Given the description of an element on the screen output the (x, y) to click on. 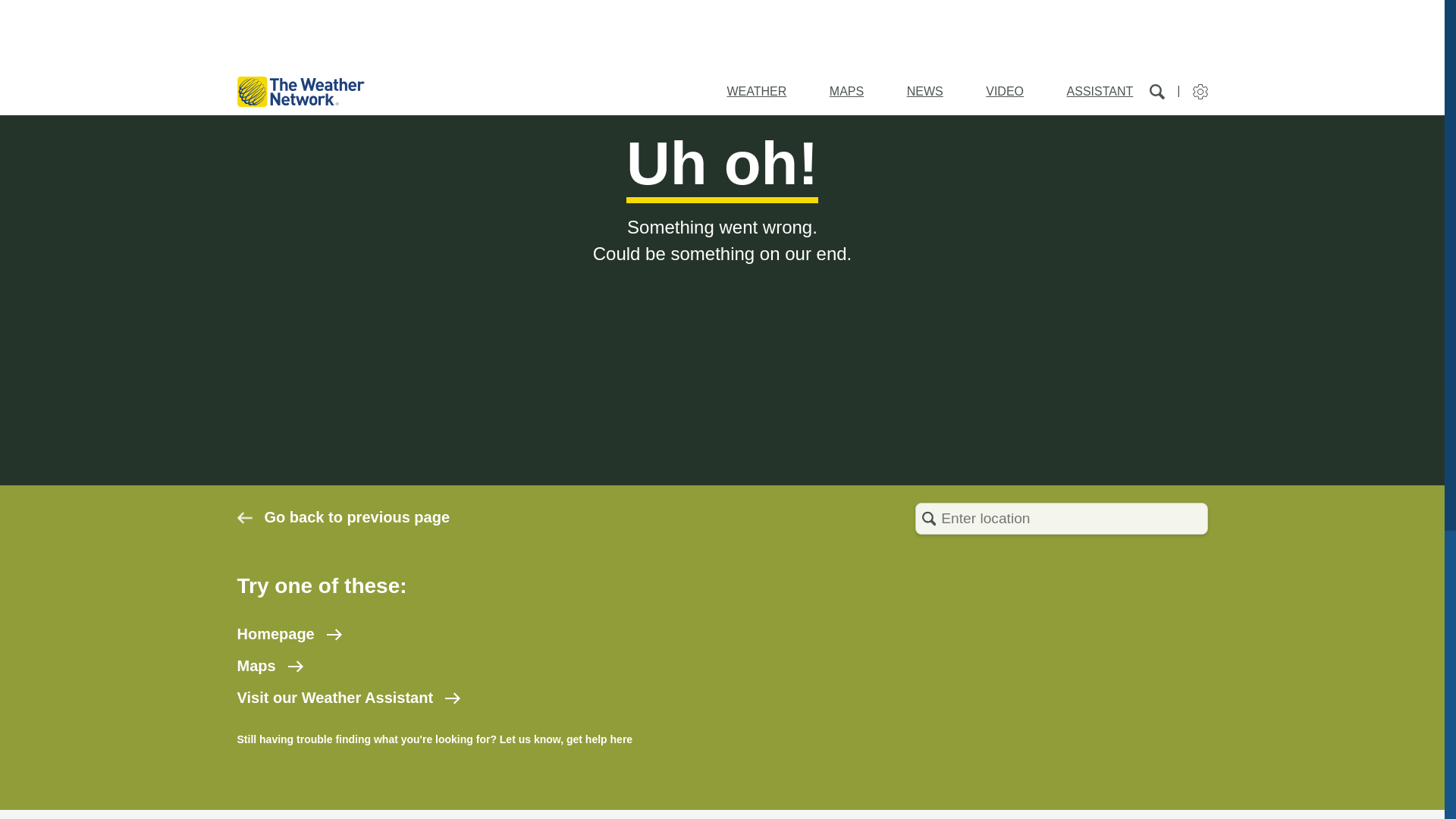
Maps (268, 665)
ASSISTANT (1100, 91)
WEATHER (756, 91)
Go back to previous page (342, 517)
VIDEO (1004, 91)
MAPS (846, 91)
Visit our Weather Assistant (347, 697)
NEWS (924, 91)
Homepage (287, 633)
